Given the description of an element on the screen output the (x, y) to click on. 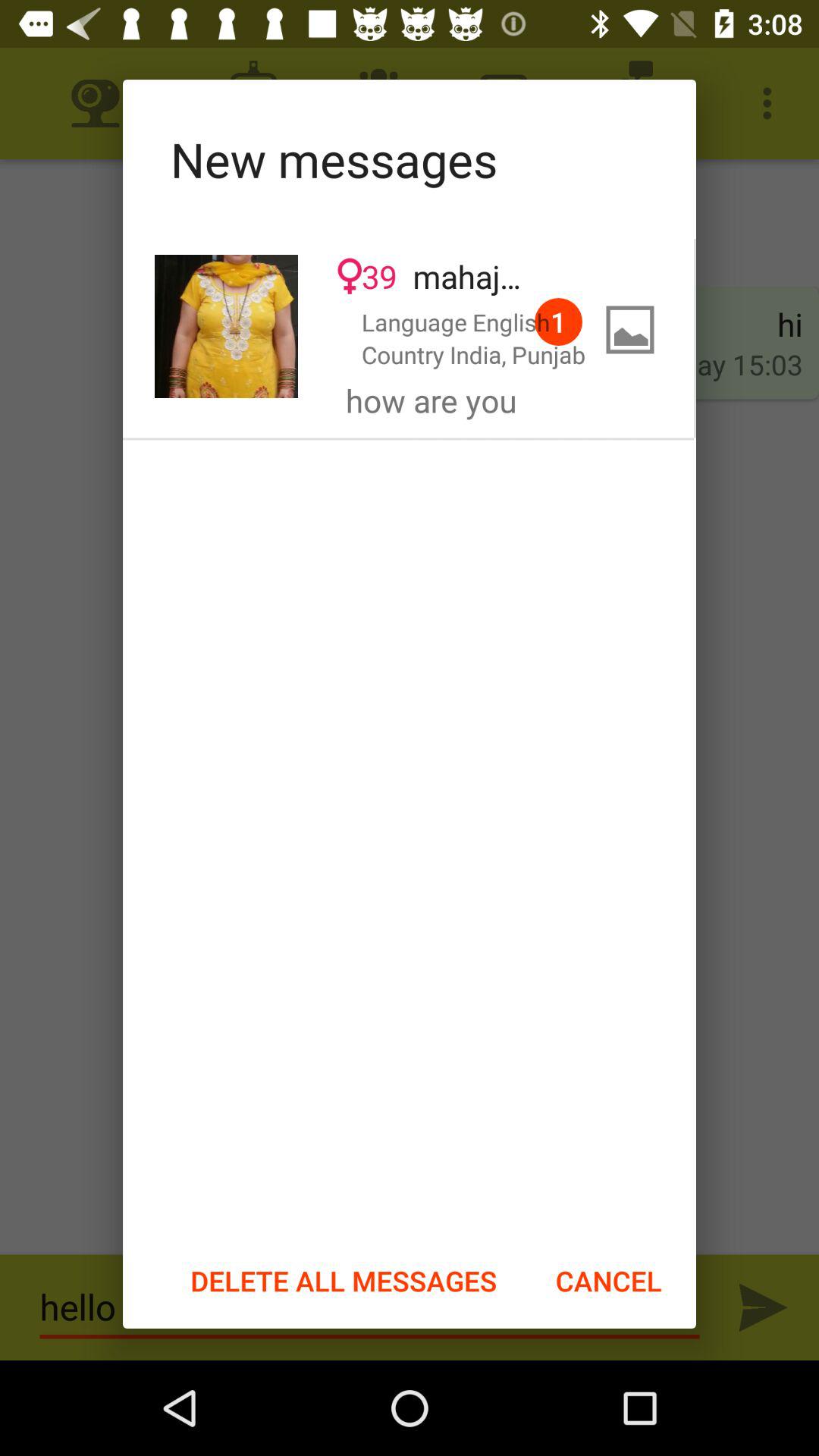
view picture (226, 326)
